Given the description of an element on the screen output the (x, y) to click on. 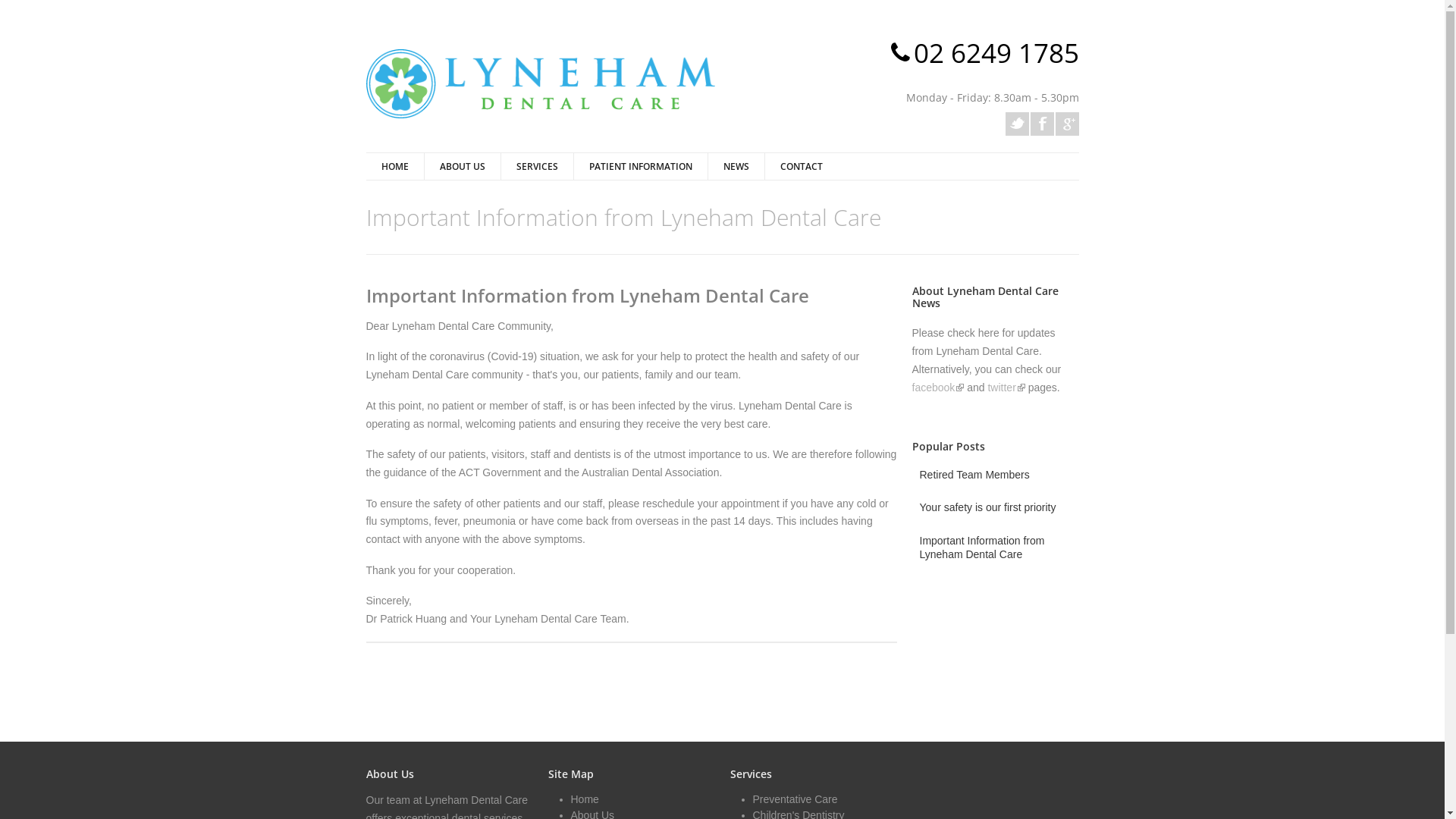
SERVICES Element type: text (536, 166)
facebook
(link is external) Element type: text (937, 387)
Important Information from Lyneham Dental Care Element type: text (586, 294)
Twitter Element type: text (1017, 123)
CONTACT Element type: text (800, 166)
Home Element type: text (584, 799)
Google+ Element type: text (1067, 123)
HOME Element type: text (394, 166)
Your safety is our first priority Element type: text (987, 507)
Retired Team Members Element type: text (974, 474)
ABOUT US Element type: text (461, 166)
Preventative Care Element type: text (794, 799)
twitter
(link is external) Element type: text (1005, 387)
02 6249 1785 Element type: text (995, 52)
Important Information from Lyneham Dental Care Element type: text (998, 547)
Home Element type: hover (539, 83)
Facebook Element type: text (1041, 123)
NEWS Element type: text (734, 166)
PATIENT INFORMATION Element type: text (640, 166)
